Given the description of an element on the screen output the (x, y) to click on. 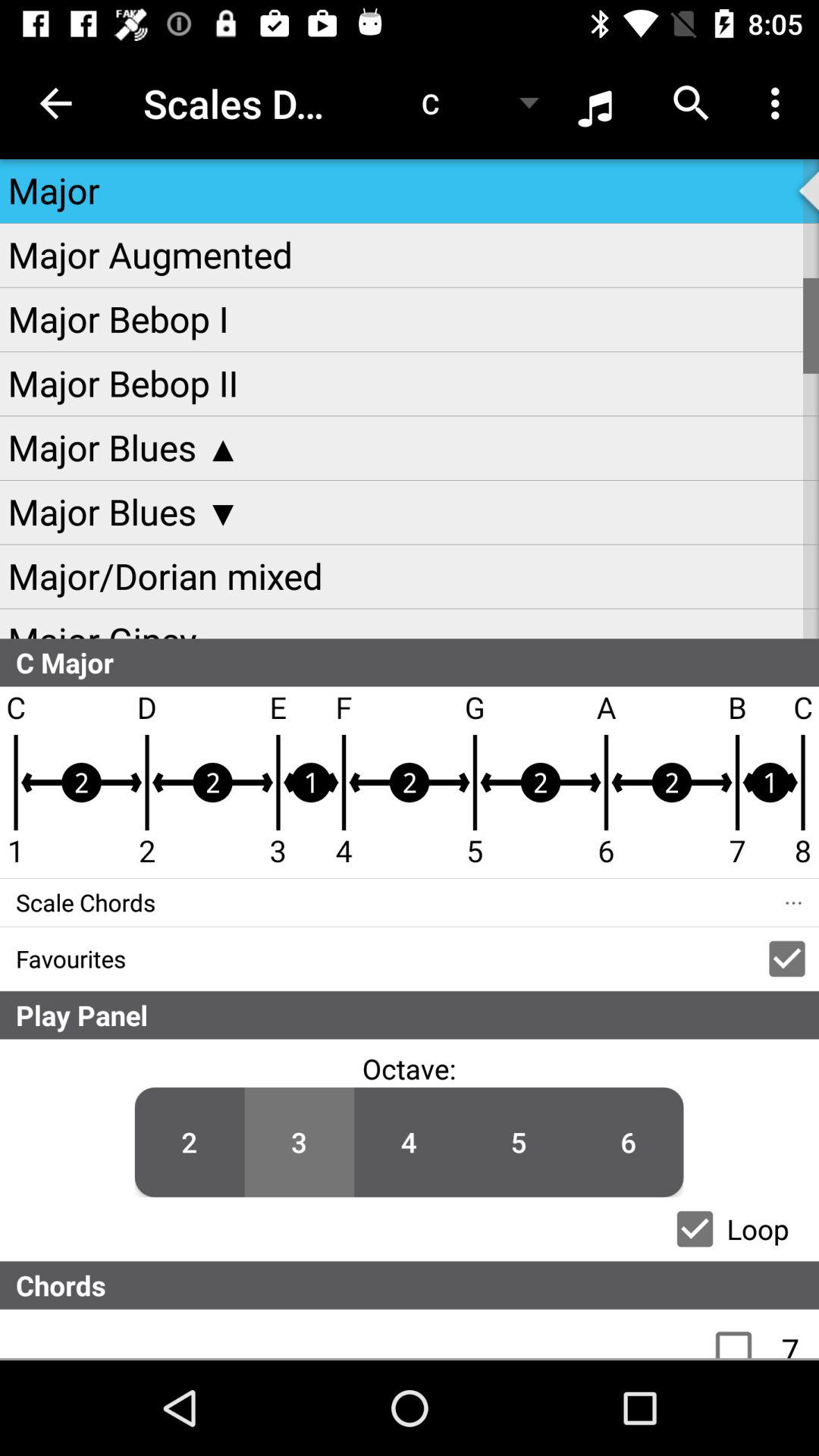
loop checkbox (694, 1228)
